Given the description of an element on the screen output the (x, y) to click on. 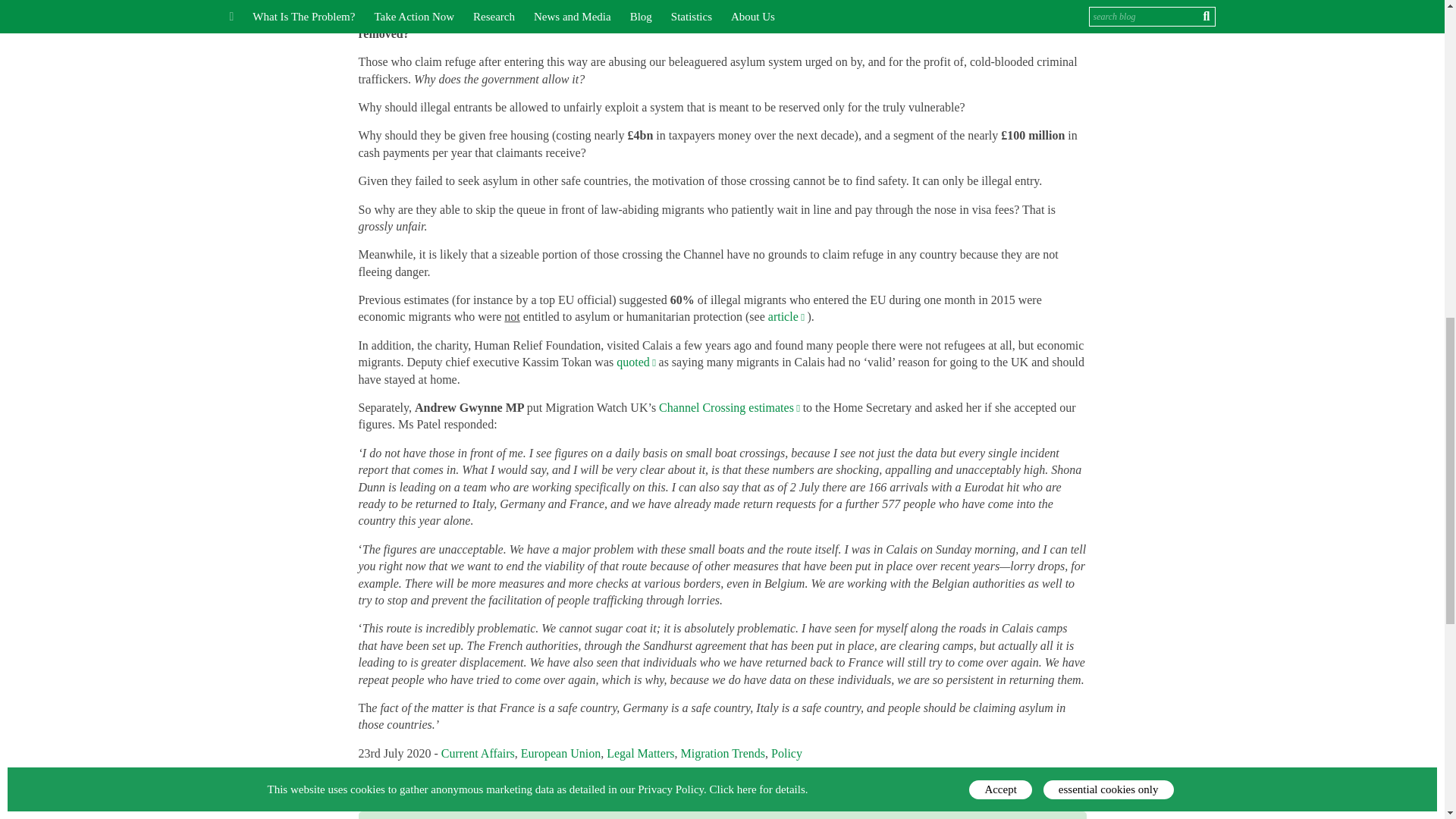
Legal Matters (640, 753)
Migration Trends (722, 753)
article (788, 316)
quoted (636, 361)
Channel Crossing estimates (731, 407)
Current Affairs (478, 753)
Policy (786, 753)
European Union (560, 753)
